Given the description of an element on the screen output the (x, y) to click on. 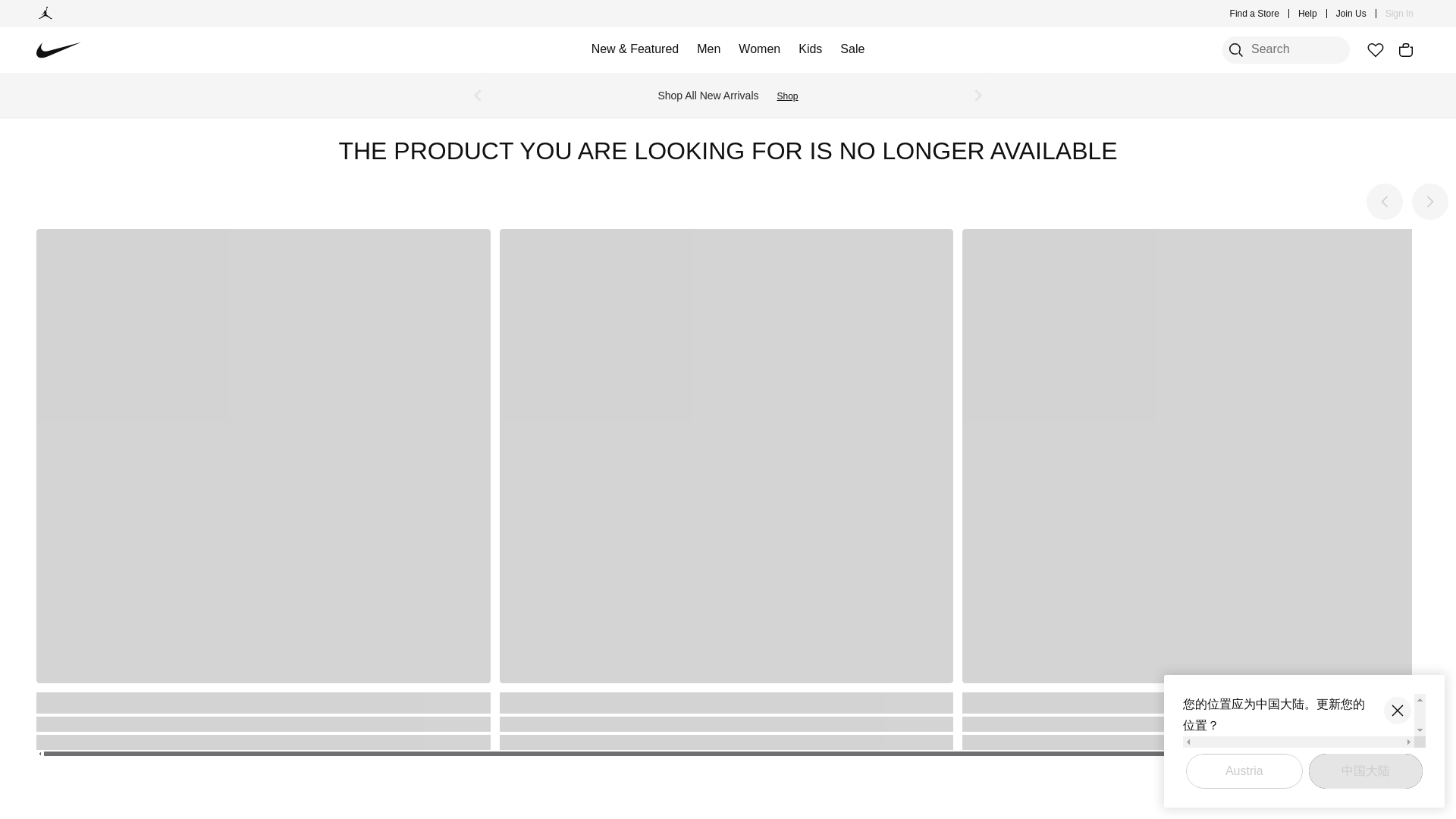
Join Us (1351, 13)
Favourites (1375, 49)
Sign In (1399, 13)
Help (1307, 13)
Find a Store (1254, 13)
Bag Items: 0 (1405, 49)
